Given the description of an element on the screen output the (x, y) to click on. 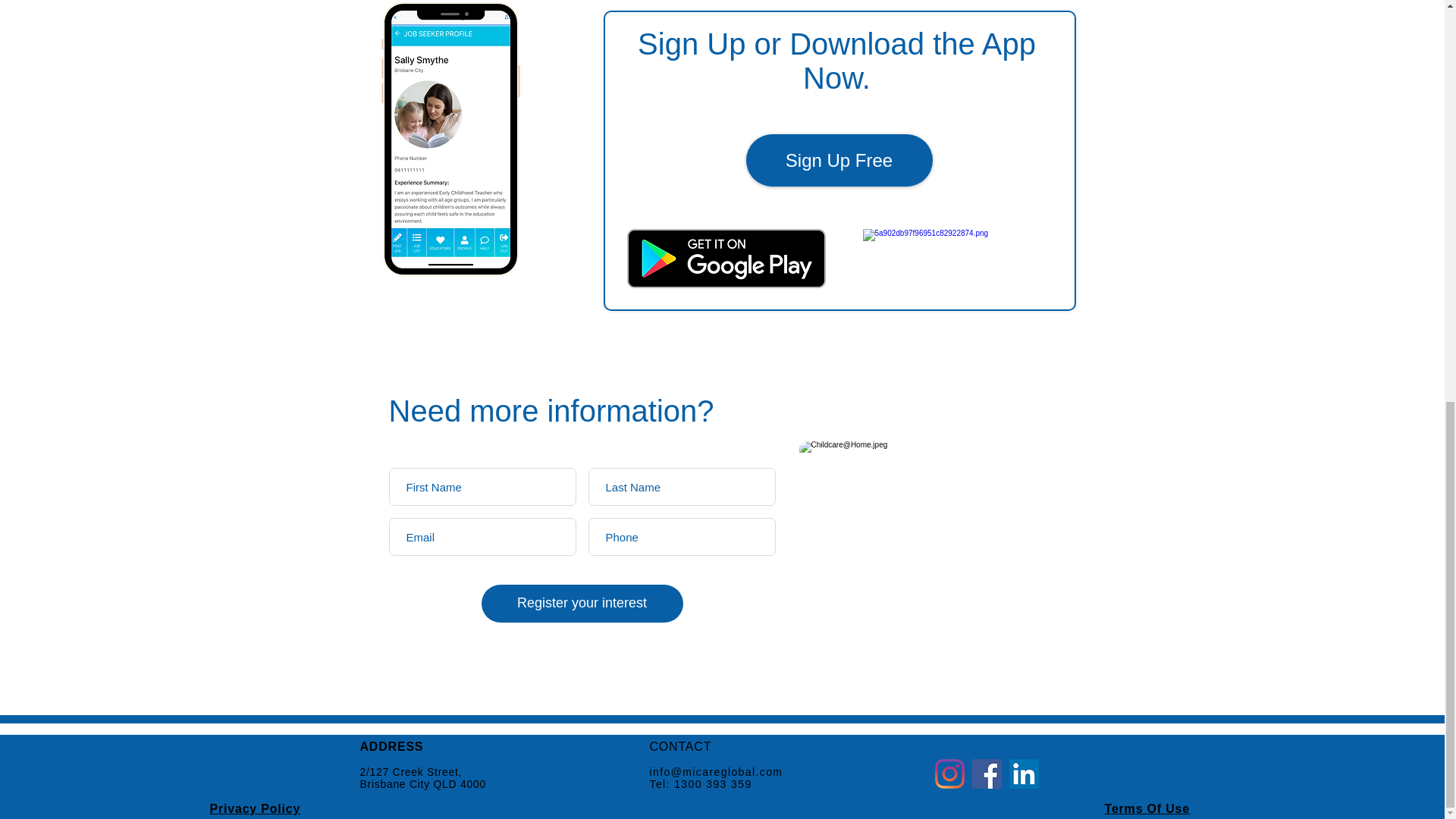
Sign Up Free (839, 160)
Register your interest (581, 603)
Terms Of Use (1146, 808)
Privacy Policy (254, 808)
